Given the description of an element on the screen output the (x, y) to click on. 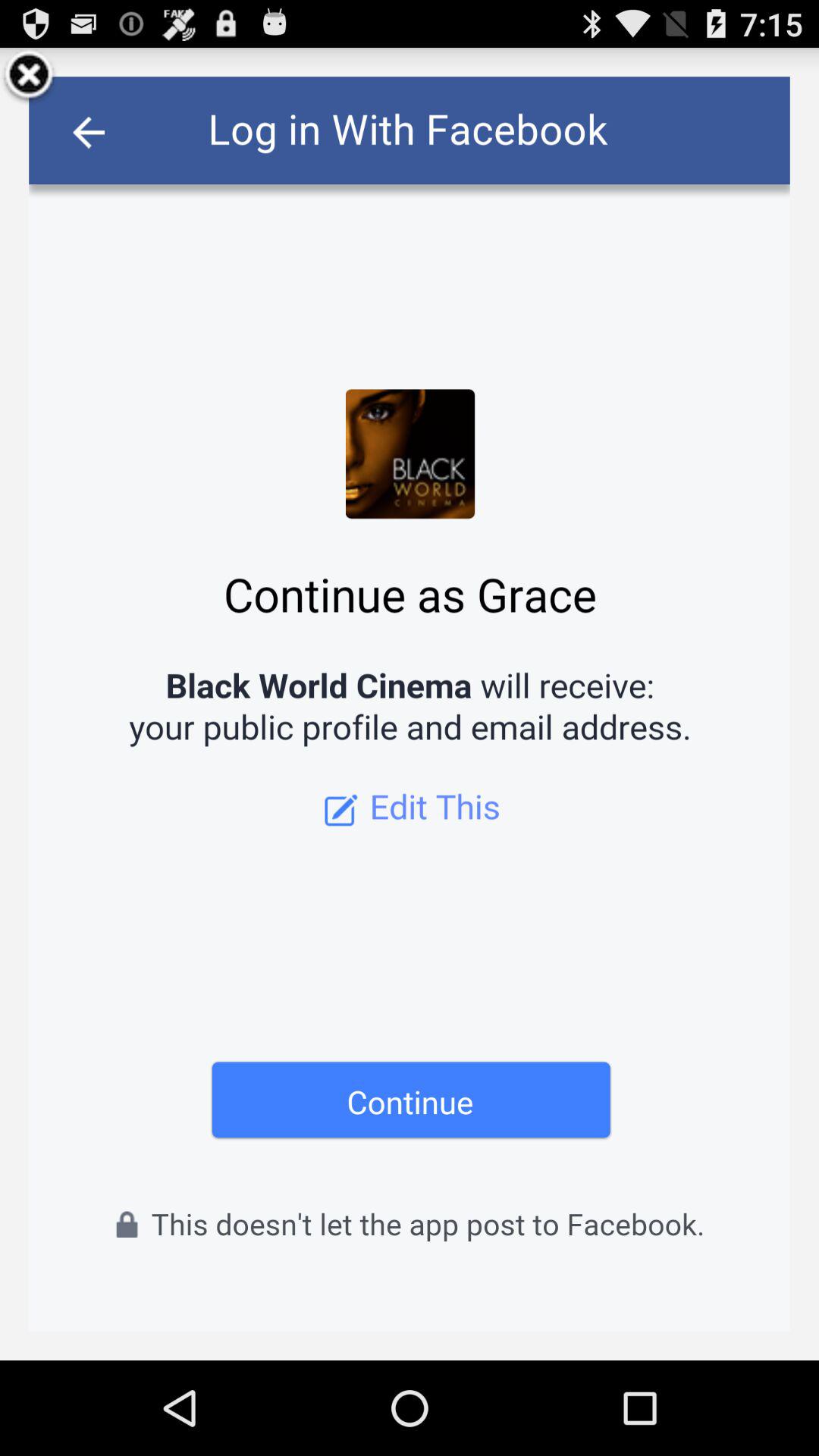
login page (409, 703)
